Given the description of an element on the screen output the (x, y) to click on. 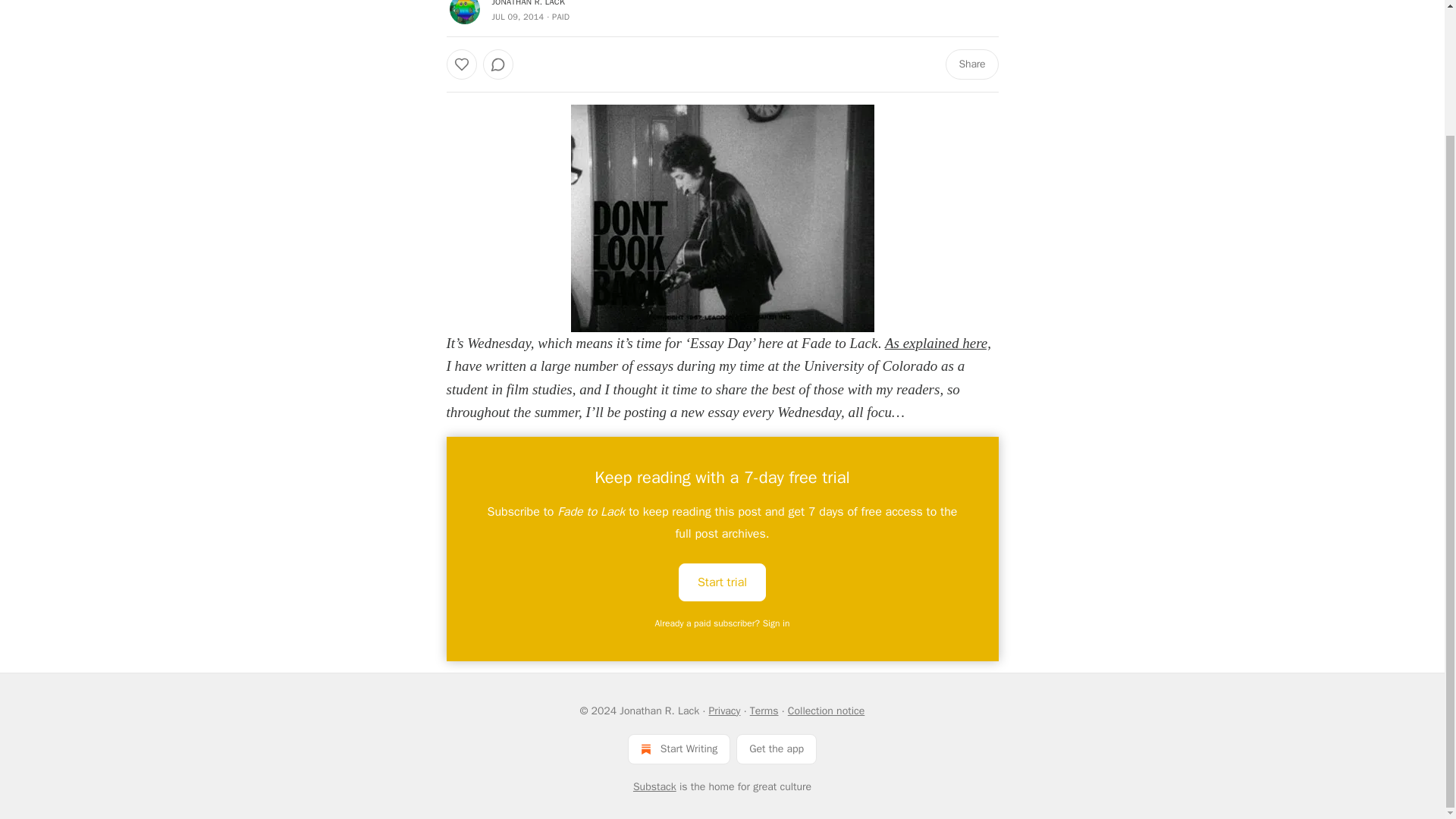
Start Writing (678, 748)
Start trial (721, 581)
Already a paid subscriber? Sign in (722, 623)
Collection notice (825, 710)
Get the app (776, 748)
As explained here, (938, 342)
Substack (655, 786)
Start trial (721, 582)
Terms (763, 710)
JONATHAN R. LACK (528, 3)
